Given the description of an element on the screen output the (x, y) to click on. 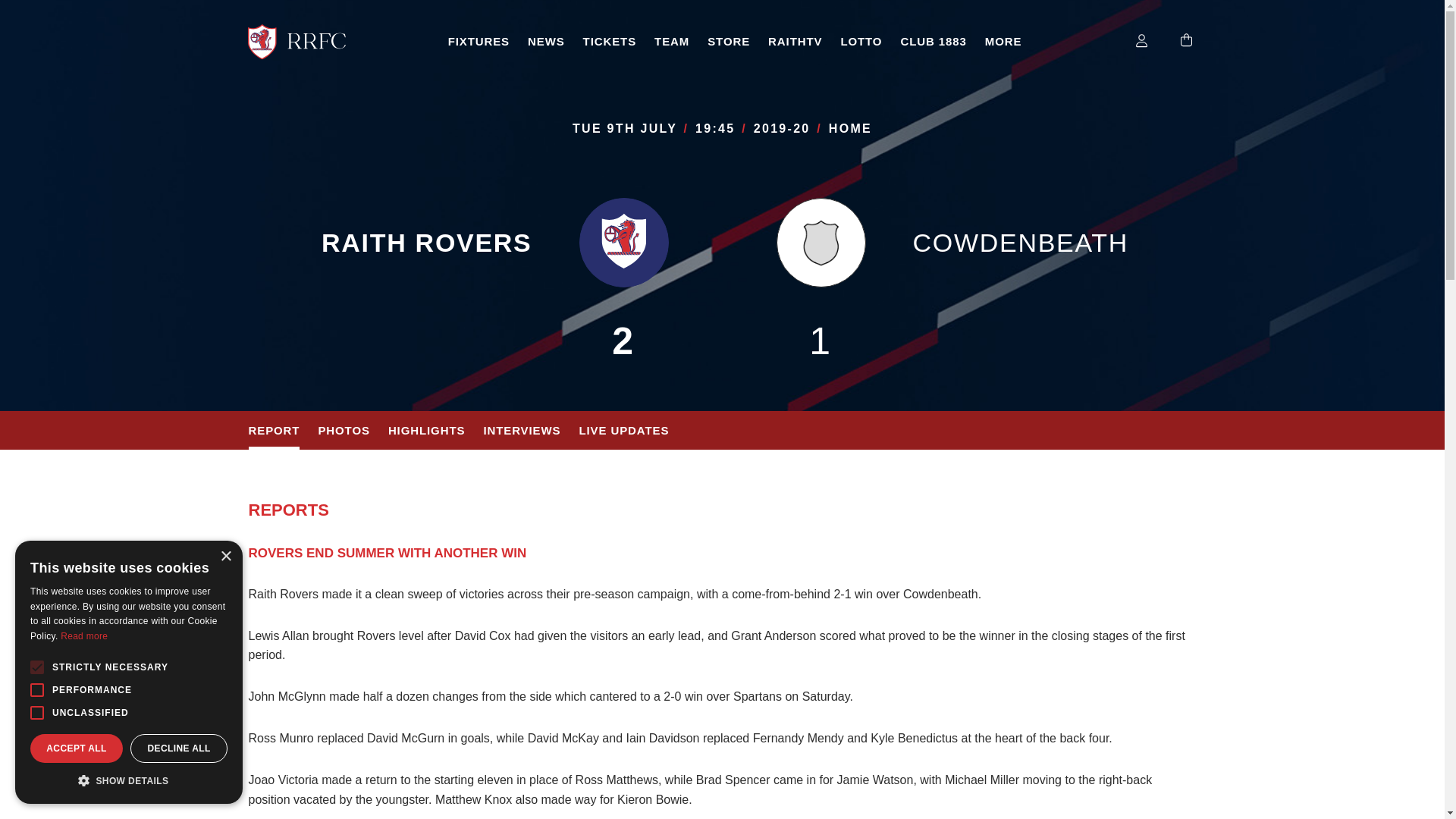
RAITHTV (794, 42)
TICKETS (609, 42)
FIXTURES (478, 42)
CLUB 1883 (933, 42)
